Given the description of an element on the screen output the (x, y) to click on. 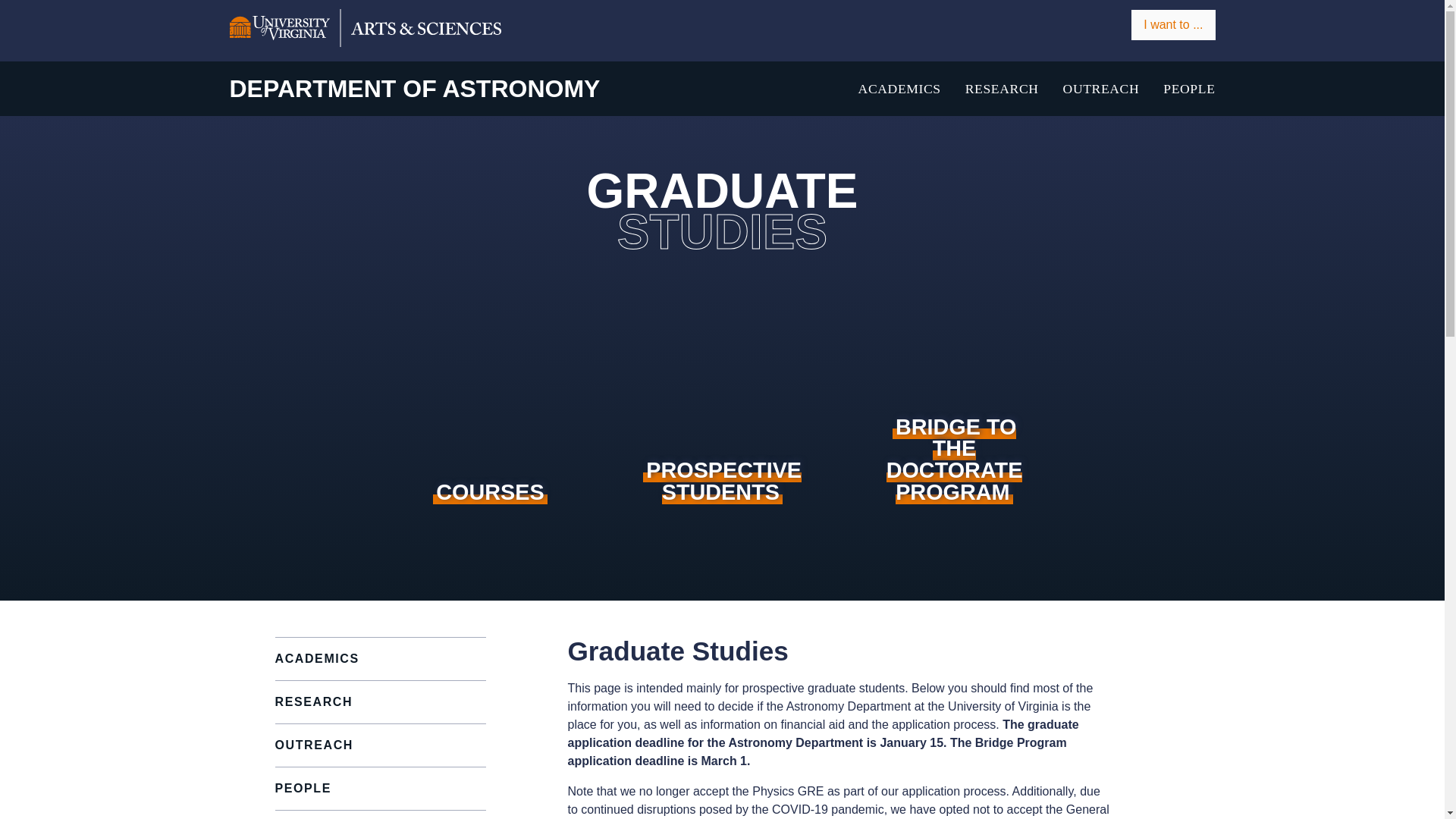
RESEARCH (1002, 88)
ACADEMICS (899, 88)
DEPARTMENT OF ASTRONOMY (413, 88)
OUTREACH (1101, 88)
PEOPLE (1188, 88)
I want to ... (1172, 24)
